Given the description of an element on the screen output the (x, y) to click on. 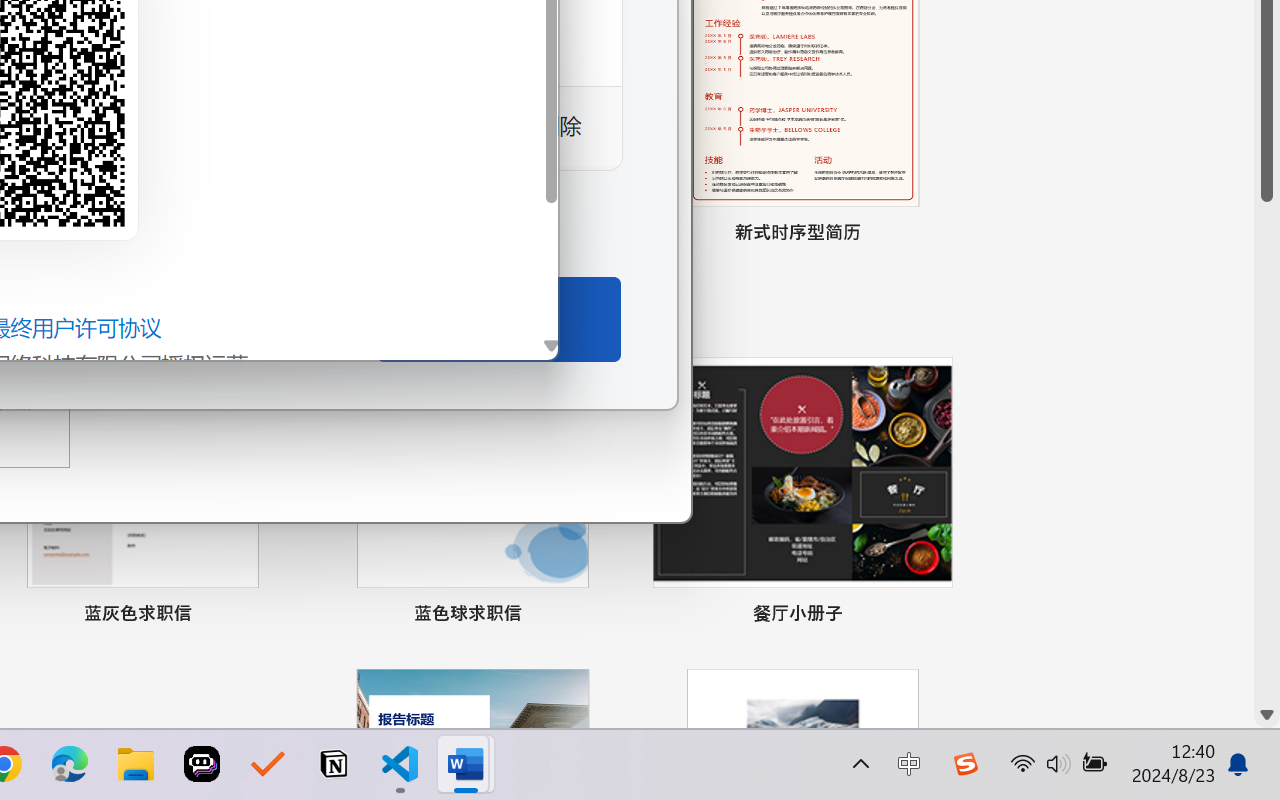
Pin to list (934, 616)
Page down (1267, 451)
